Given the description of an element on the screen output the (x, y) to click on. 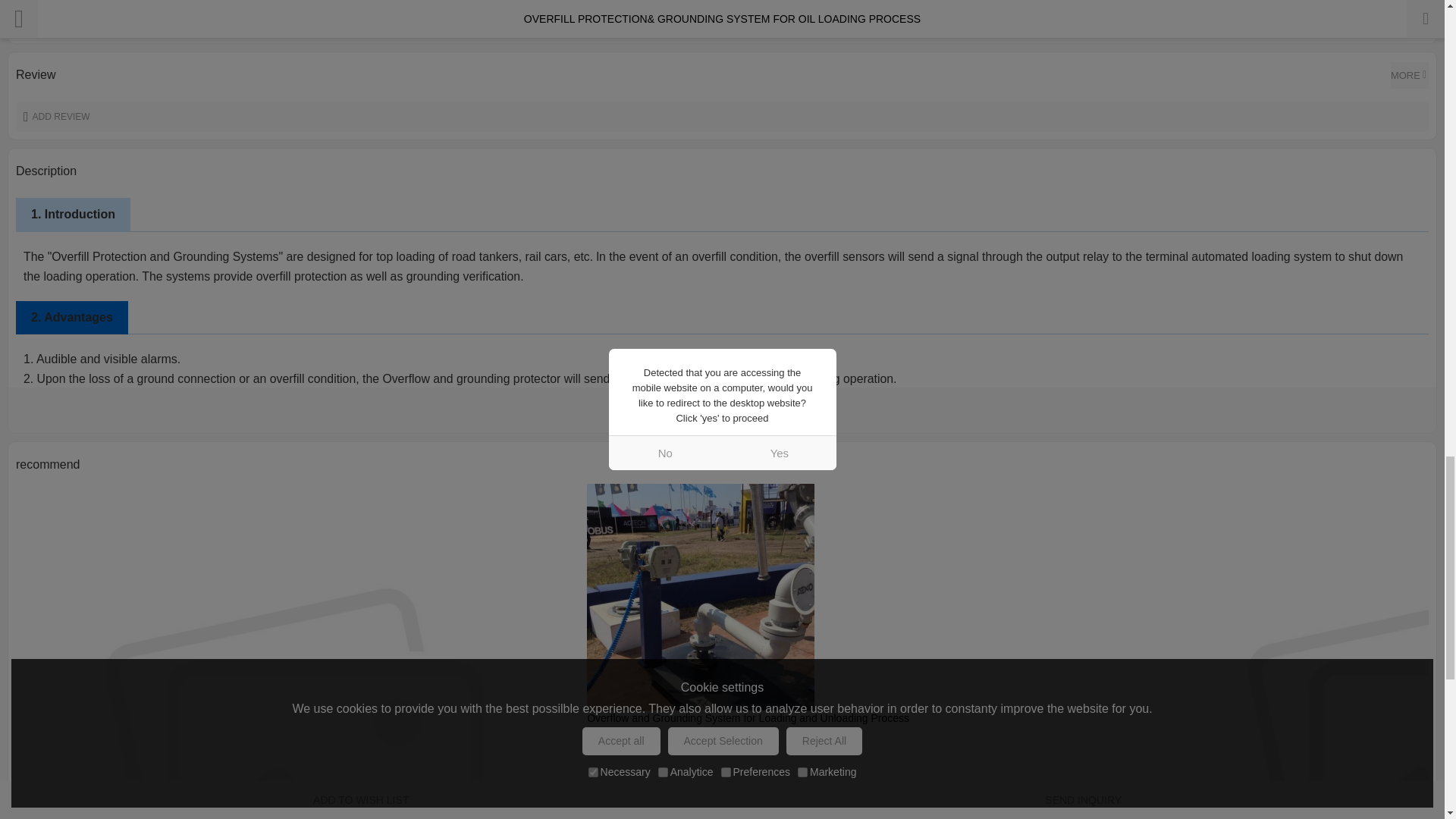
VIEW MORE (721, 410)
MORE (1409, 75)
Review (1409, 75)
Add review (722, 116)
View More (721, 410)
ADD REVIEW (722, 116)
